Given the description of an element on the screen output the (x, y) to click on. 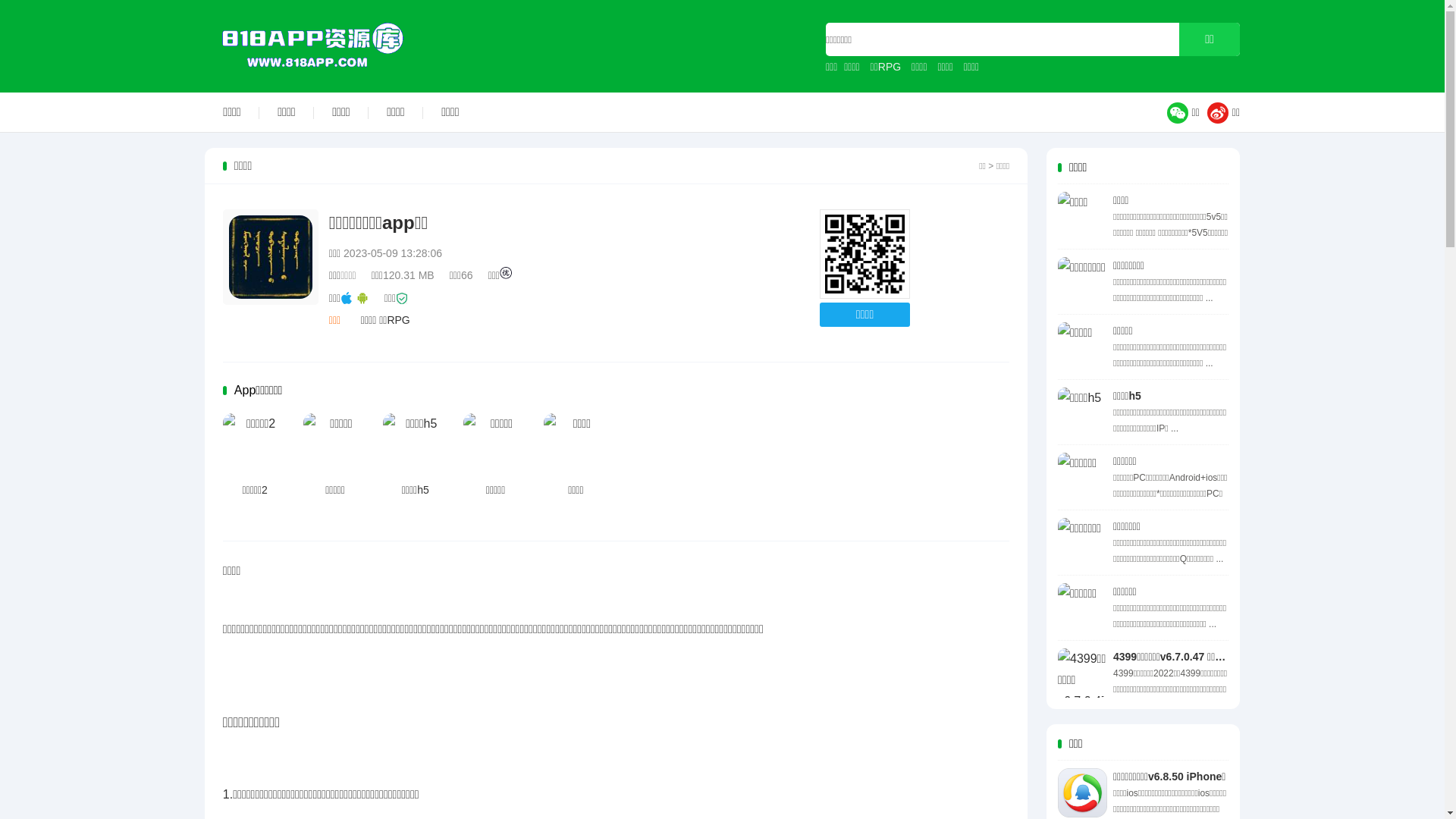
http://www.818app.com Element type: hover (864, 254)
